Given the description of an element on the screen output the (x, y) to click on. 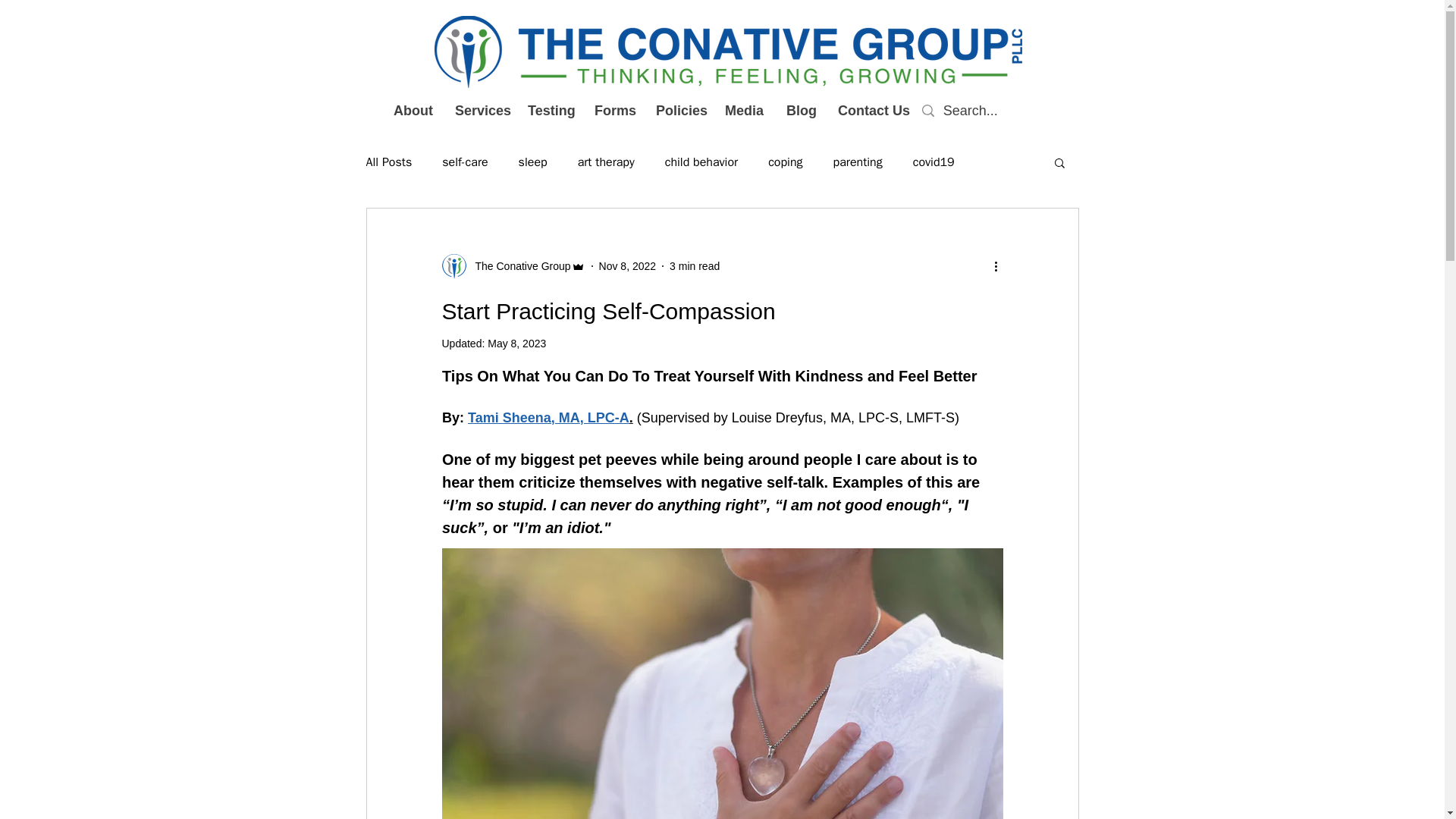
About (411, 110)
3 min read (694, 265)
Media (743, 110)
Testing (548, 110)
self-care (464, 162)
Contact Us (871, 110)
All Posts (388, 162)
The Conative Group (517, 265)
May 8, 2023 (516, 343)
coping (785, 162)
